Given the description of an element on the screen output the (x, y) to click on. 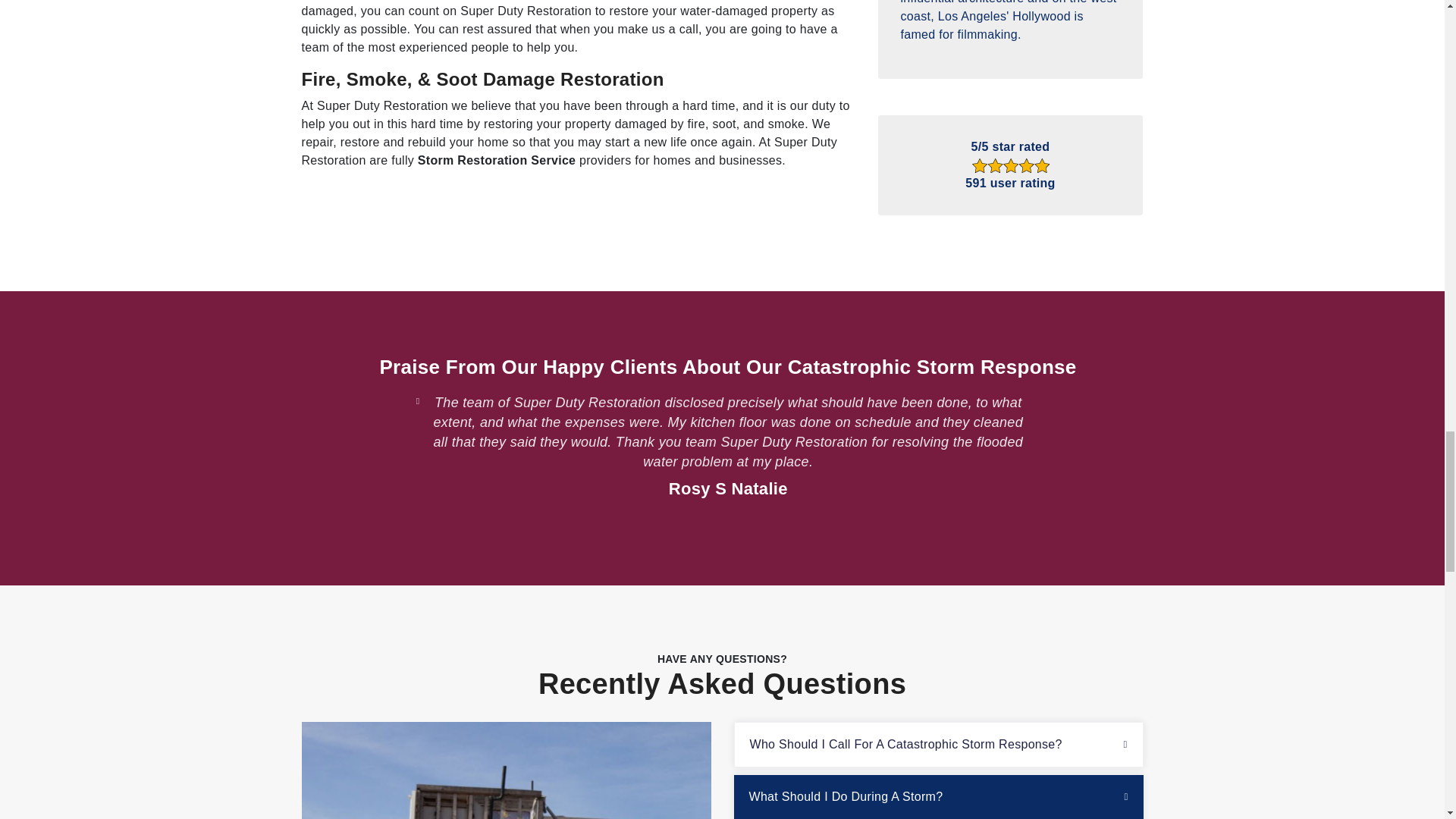
What Should I Do During A Storm? (937, 796)
Who Should I Call For A Catastrophic Storm Response? (937, 744)
